Given the description of an element on the screen output the (x, y) to click on. 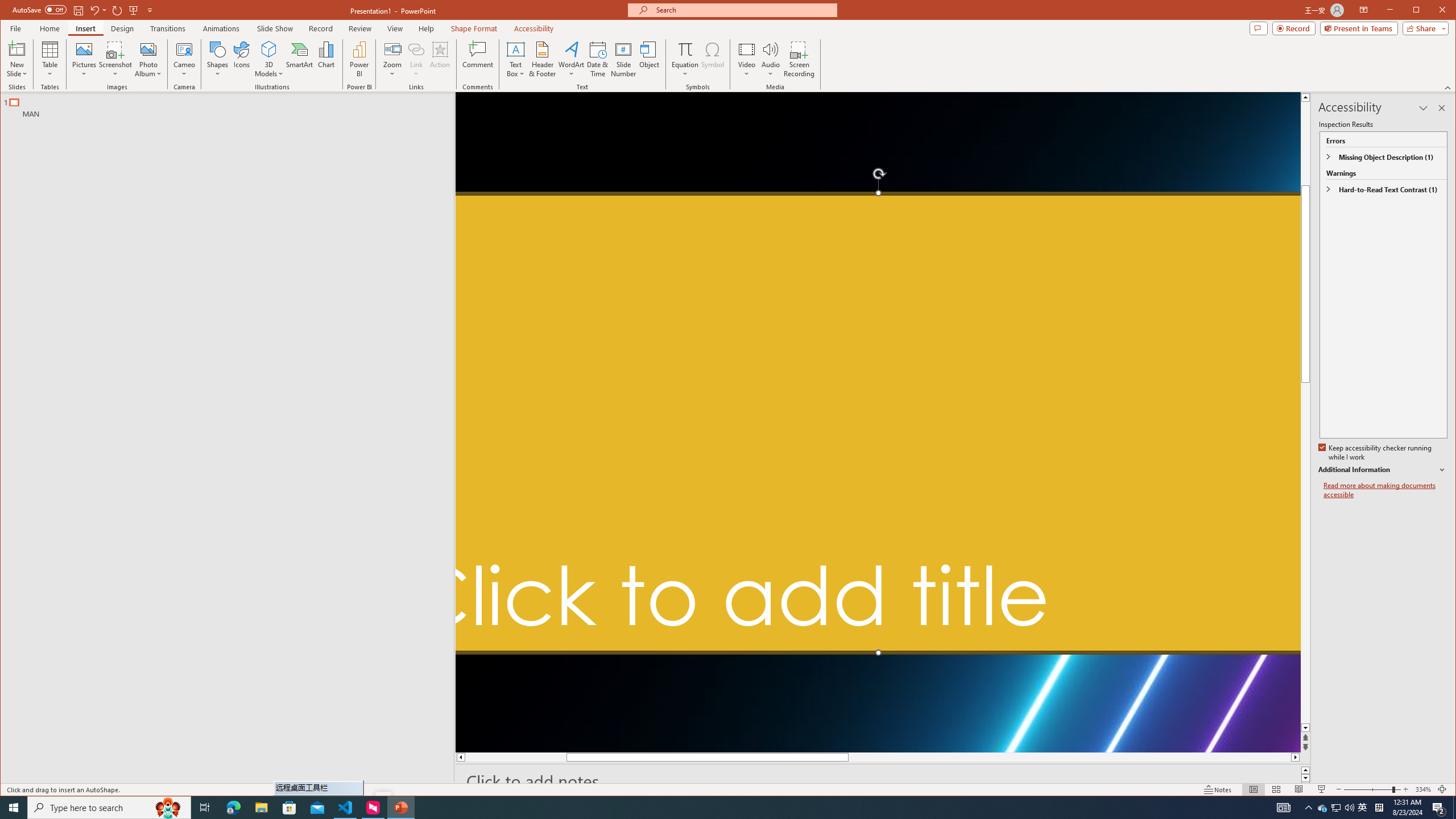
New Photo Album... (148, 48)
Zoom 334% (1422, 789)
Table (49, 59)
